Given the description of an element on the screen output the (x, y) to click on. 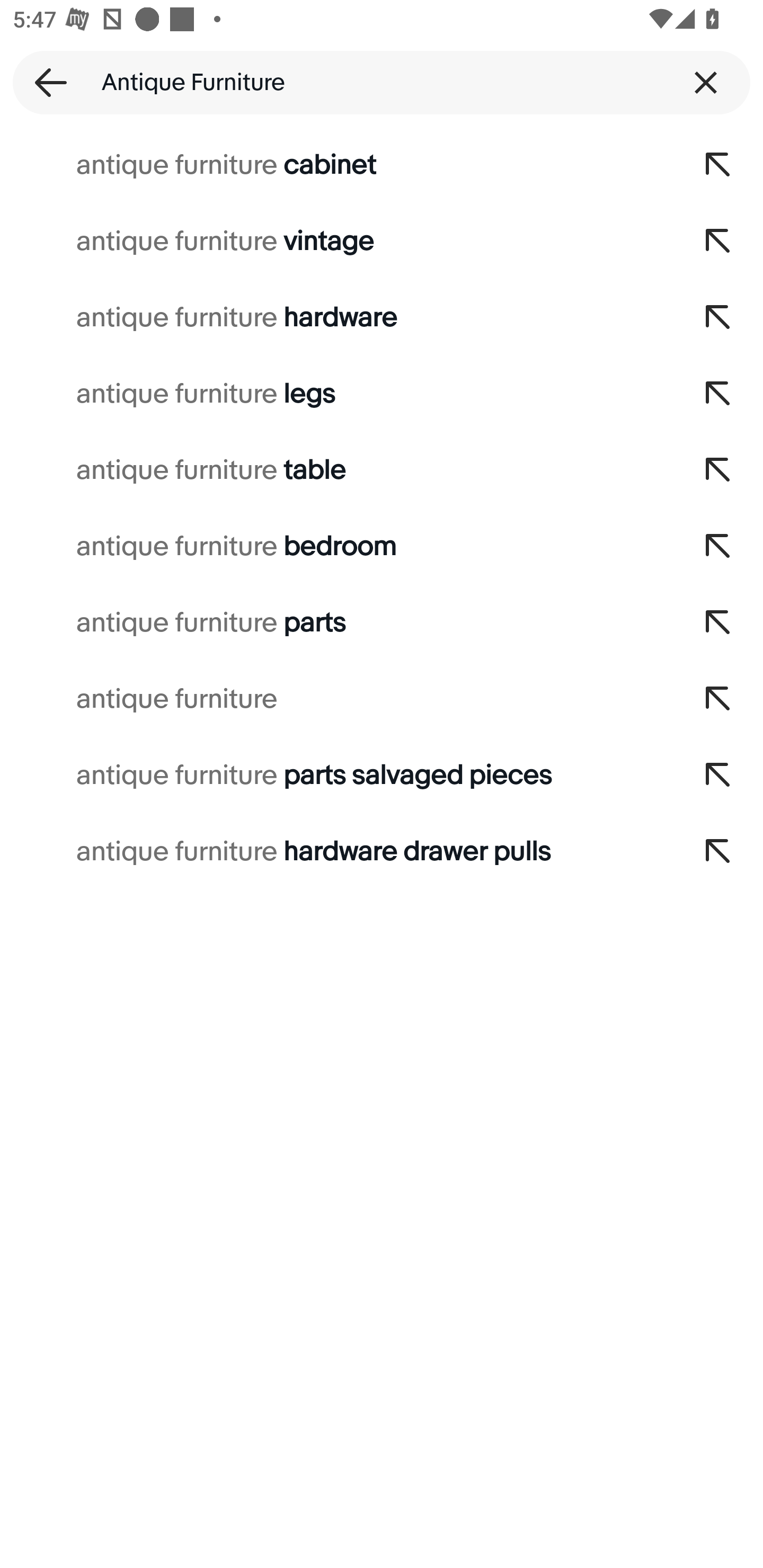
Back (44, 82)
Clear query (705, 82)
Antique Furniture (381, 82)
antique furniture cabinet (336, 165)
Add to search query,antique furniture cabinet (718, 165)
antique furniture vintage (336, 241)
Add to search query,antique furniture vintage (718, 241)
antique furniture hardware (336, 317)
Add to search query,antique furniture hardware (718, 317)
antique furniture legs (336, 393)
Add to search query,antique furniture legs (718, 393)
antique furniture table (336, 470)
Add to search query,antique furniture table (718, 470)
antique furniture bedroom (336, 546)
Add to search query,antique furniture bedroom (718, 546)
antique furniture parts (336, 622)
Add to search query,antique furniture parts (718, 622)
antique furniture (336, 698)
Add to search query,antique furniture (718, 698)
antique furniture parts salvaged pieces (336, 774)
antique furniture hardware drawer pulls (336, 851)
